Given the description of an element on the screen output the (x, y) to click on. 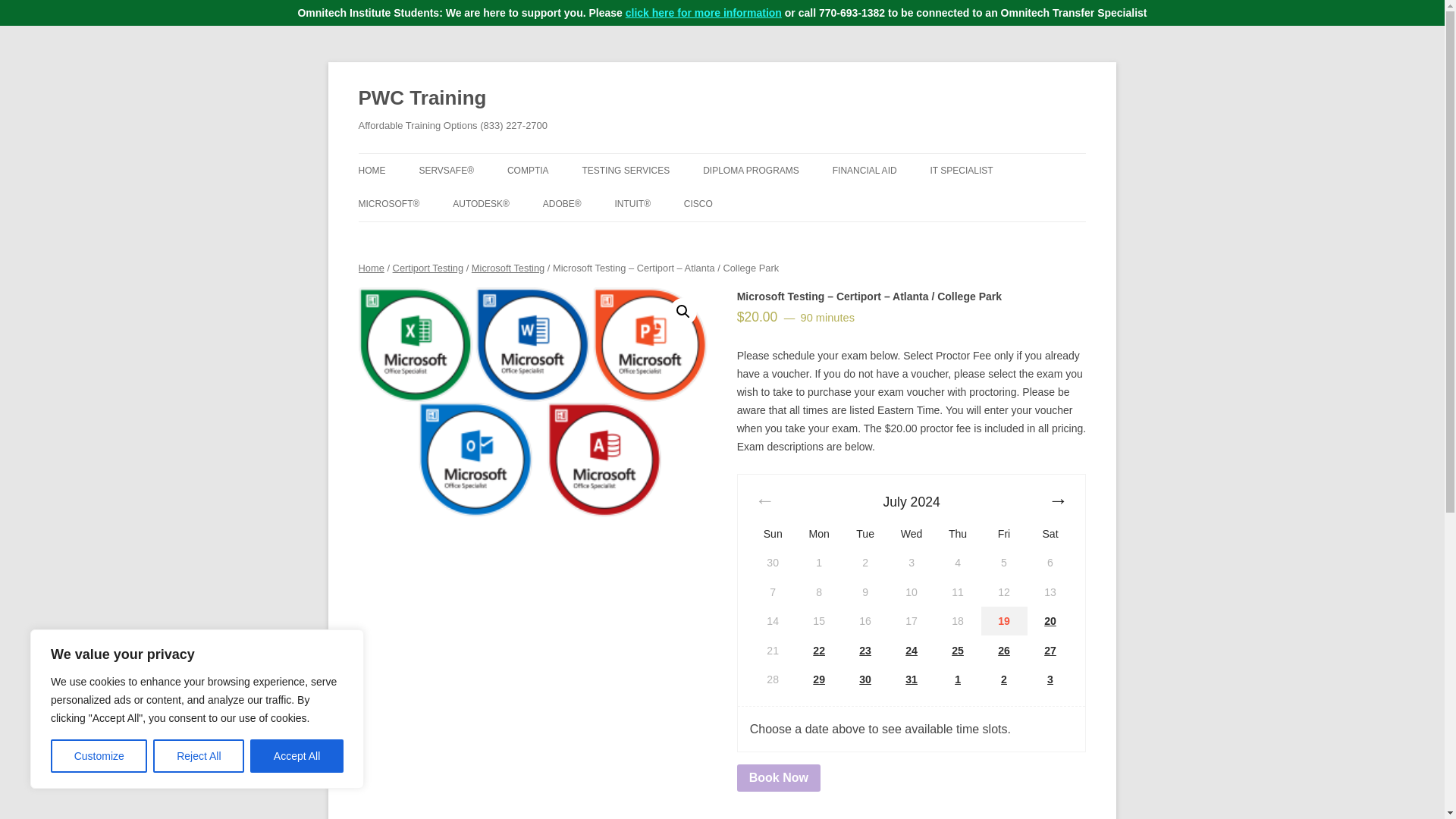
Selected date is unavailable (1050, 562)
Selected date is unavailable (772, 562)
Selected date is unavailable (819, 562)
Wednesday (912, 533)
Selected date is unavailable (957, 562)
Customize (98, 756)
Previous (764, 501)
Selected date is unavailable (772, 591)
MOS-Office-Specialist-Badges-to-earn (532, 401)
Reject All (198, 756)
Tuesday (865, 533)
Selected date is unavailable (865, 562)
Accept All (296, 756)
STAFF DIRECTORY (433, 202)
Next (1057, 501)
